Given the description of an element on the screen output the (x, y) to click on. 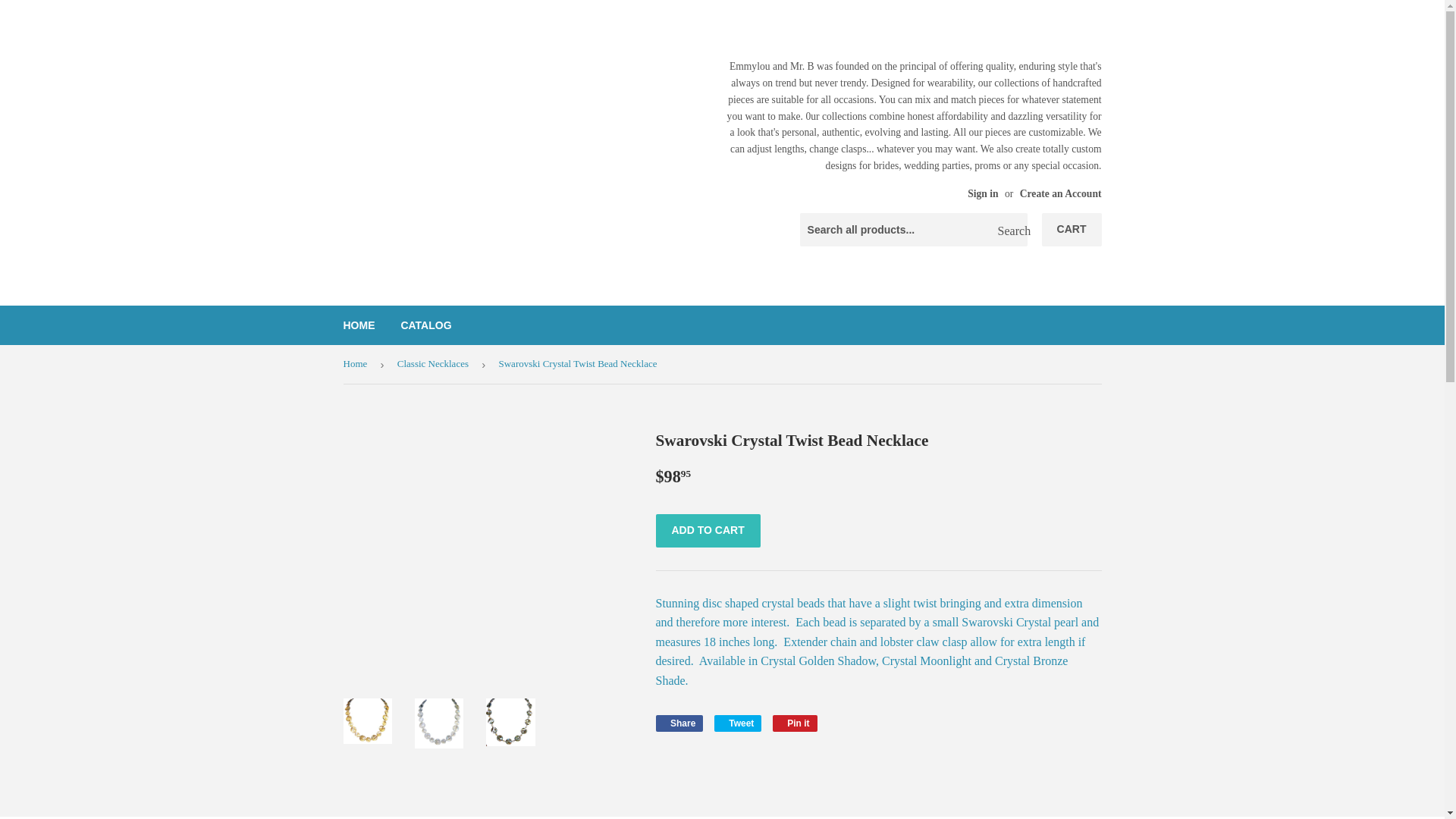
HOME (737, 723)
Back to the frontpage (359, 324)
CART (357, 364)
CATALOG (1072, 229)
Sign in (425, 324)
Pin on Pinterest (794, 723)
Home (982, 193)
Classic Necklaces (794, 723)
Search (357, 364)
ADD TO CART (435, 364)
Tweet on Twitter (1009, 230)
Share on Facebook (679, 723)
